Given the description of an element on the screen output the (x, y) to click on. 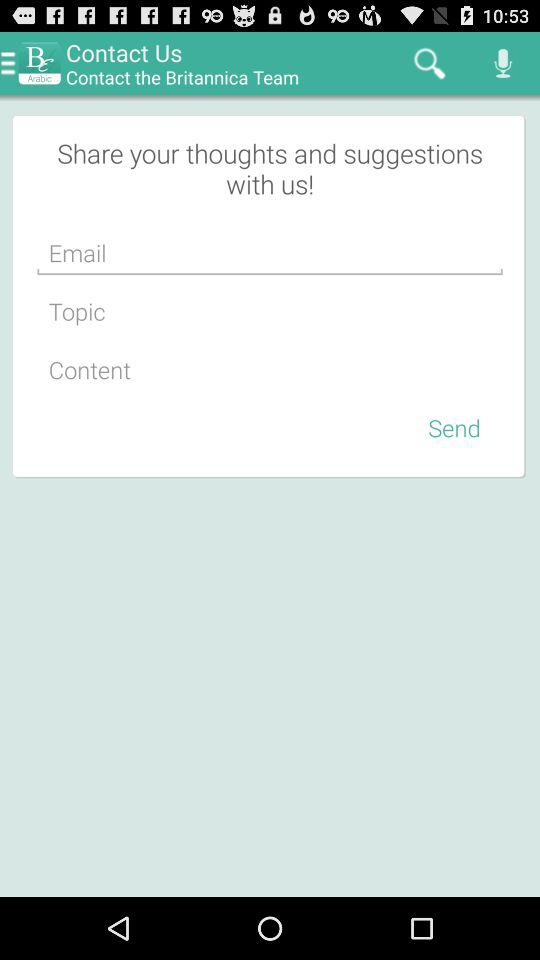
shows enter email area (270, 253)
